Given the description of an element on the screen output the (x, y) to click on. 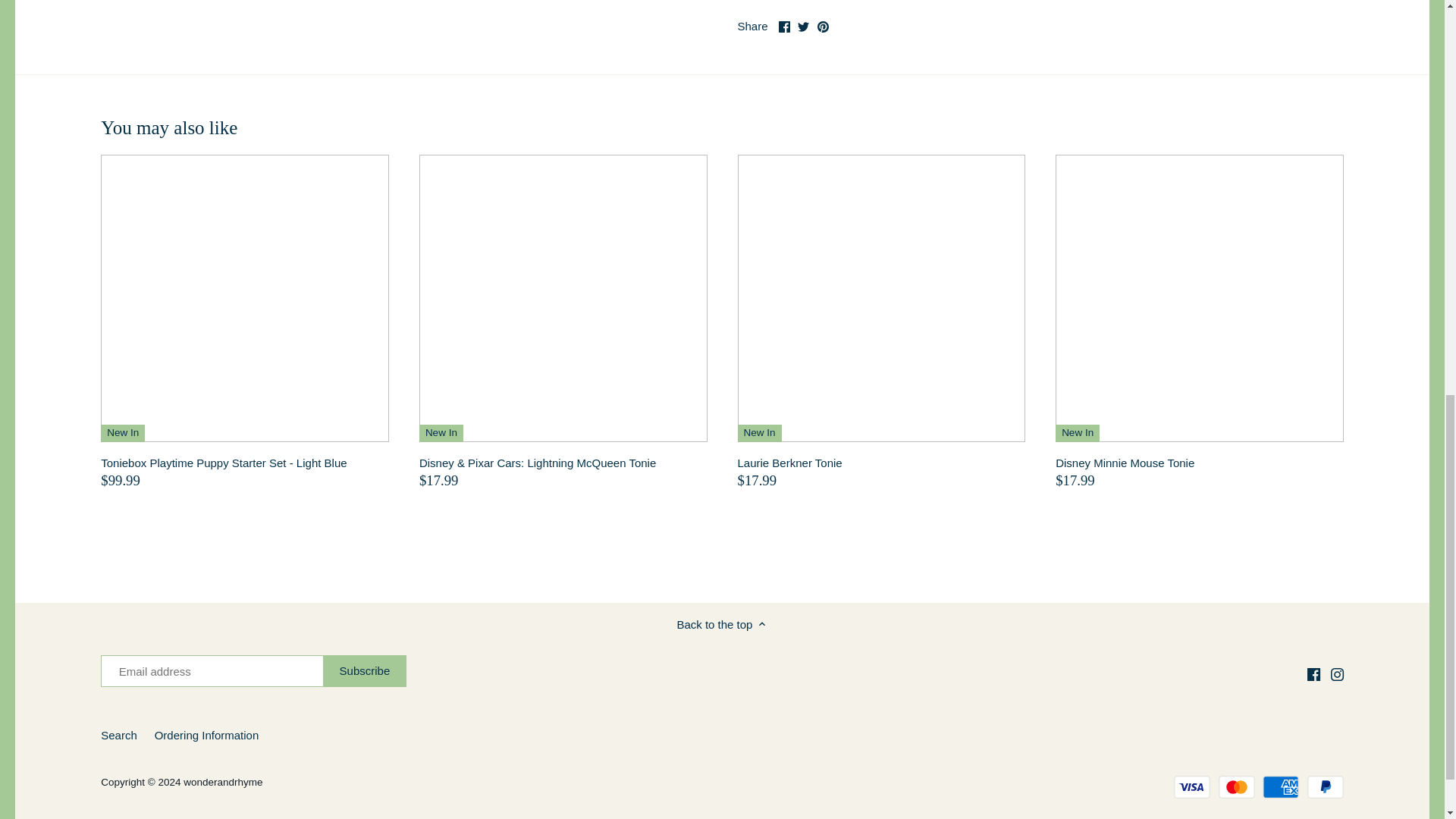
Twitter (803, 26)
Mastercard (1236, 786)
Visa (1191, 786)
Facebook (784, 26)
Instagram (1336, 674)
PayPal (1325, 786)
Pinterest (822, 26)
Subscribe (365, 671)
American Express (1280, 786)
Facebook (1313, 674)
